Given the description of an element on the screen output the (x, y) to click on. 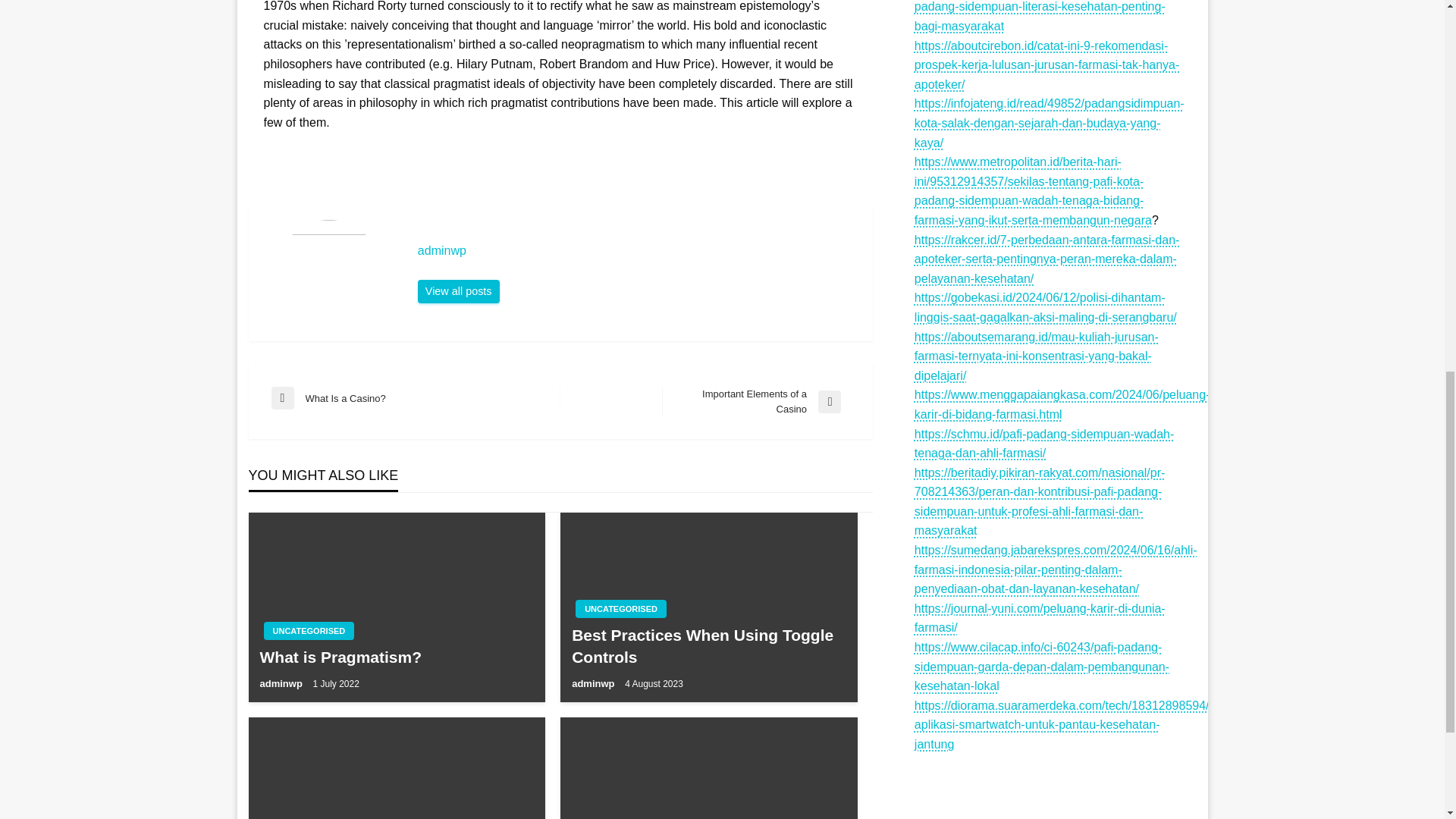
adminwp (281, 683)
What is Pragmatism? (396, 657)
Best Practices When Using Toggle Controls (708, 646)
UNCATEGORISED (620, 608)
adminwp (637, 250)
adminwp (415, 397)
adminwp (756, 401)
adminwp (458, 291)
UNCATEGORISED (637, 250)
View all posts (594, 683)
